Given the description of an element on the screen output the (x, y) to click on. 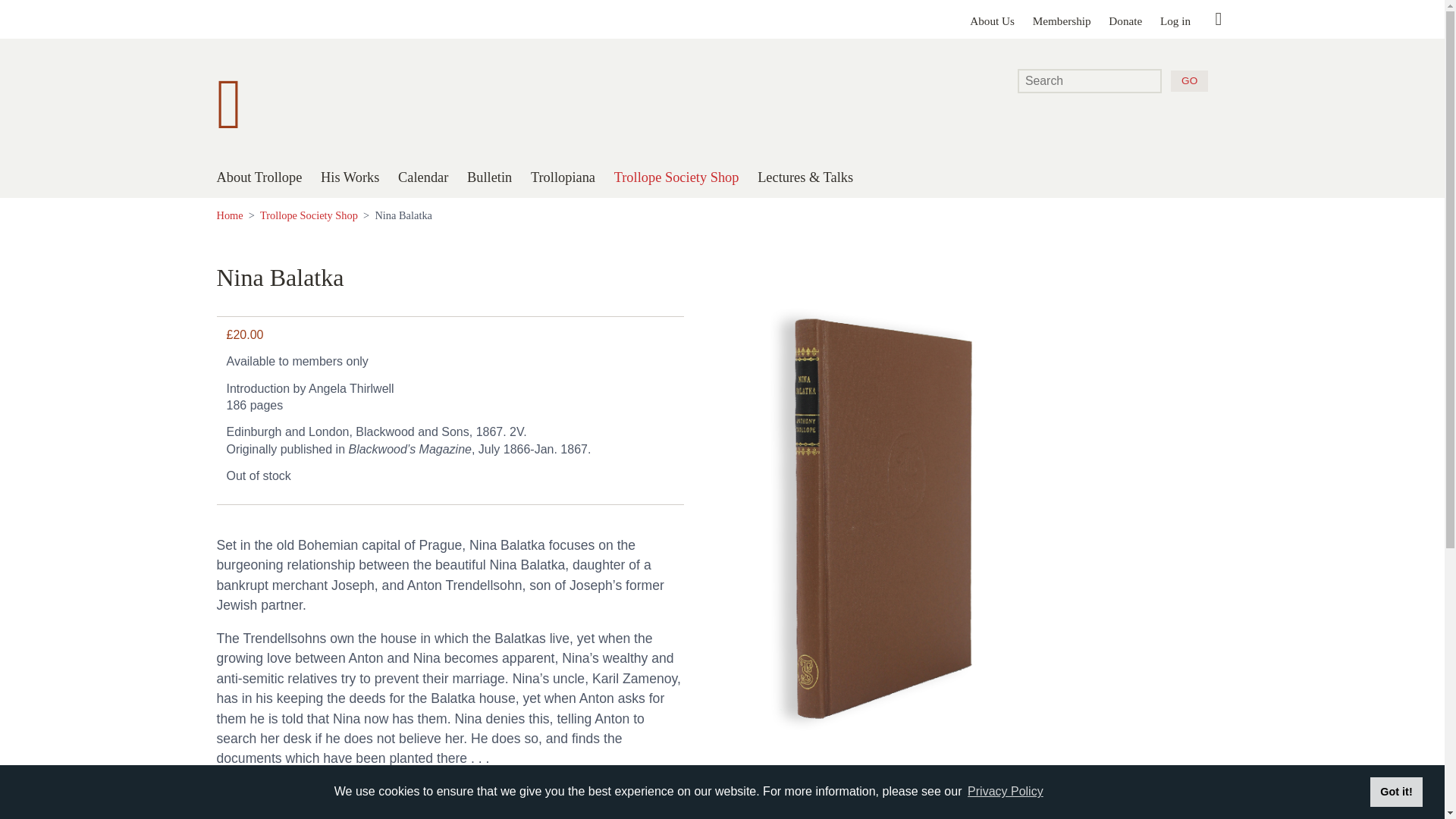
His Works (349, 177)
More sharing options... (1217, 20)
Trollope Society Shop (309, 215)
Membership (1061, 20)
Trollopiana (563, 177)
Bulletin (489, 177)
Go (1188, 81)
About Us (991, 20)
Trollope Society Shop (676, 177)
Log in (1175, 20)
Donate (1124, 20)
Privacy Policy (1005, 791)
Calendar (422, 177)
Home (229, 215)
Got it! (1396, 791)
